Given the description of an element on the screen output the (x, y) to click on. 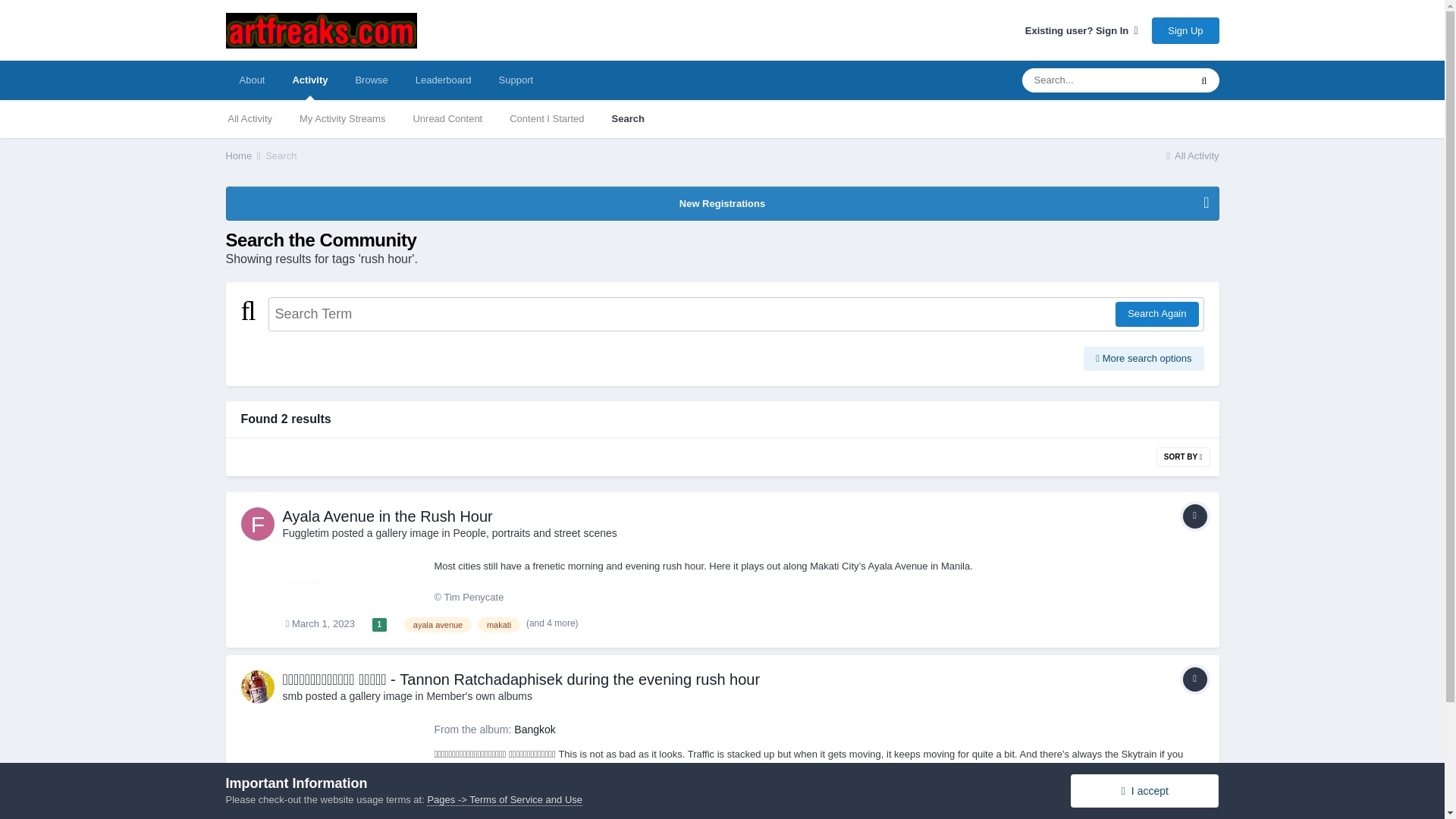
Unread Content (447, 118)
Search (627, 118)
Go to smb's profile (258, 686)
Find other content tagged with 'makati' (498, 624)
Content I Started (546, 118)
Go to smb's profile (291, 695)
About (252, 79)
Home (244, 155)
My Activity Streams (341, 118)
Gallery Image (1194, 516)
